Given the description of an element on the screen output the (x, y) to click on. 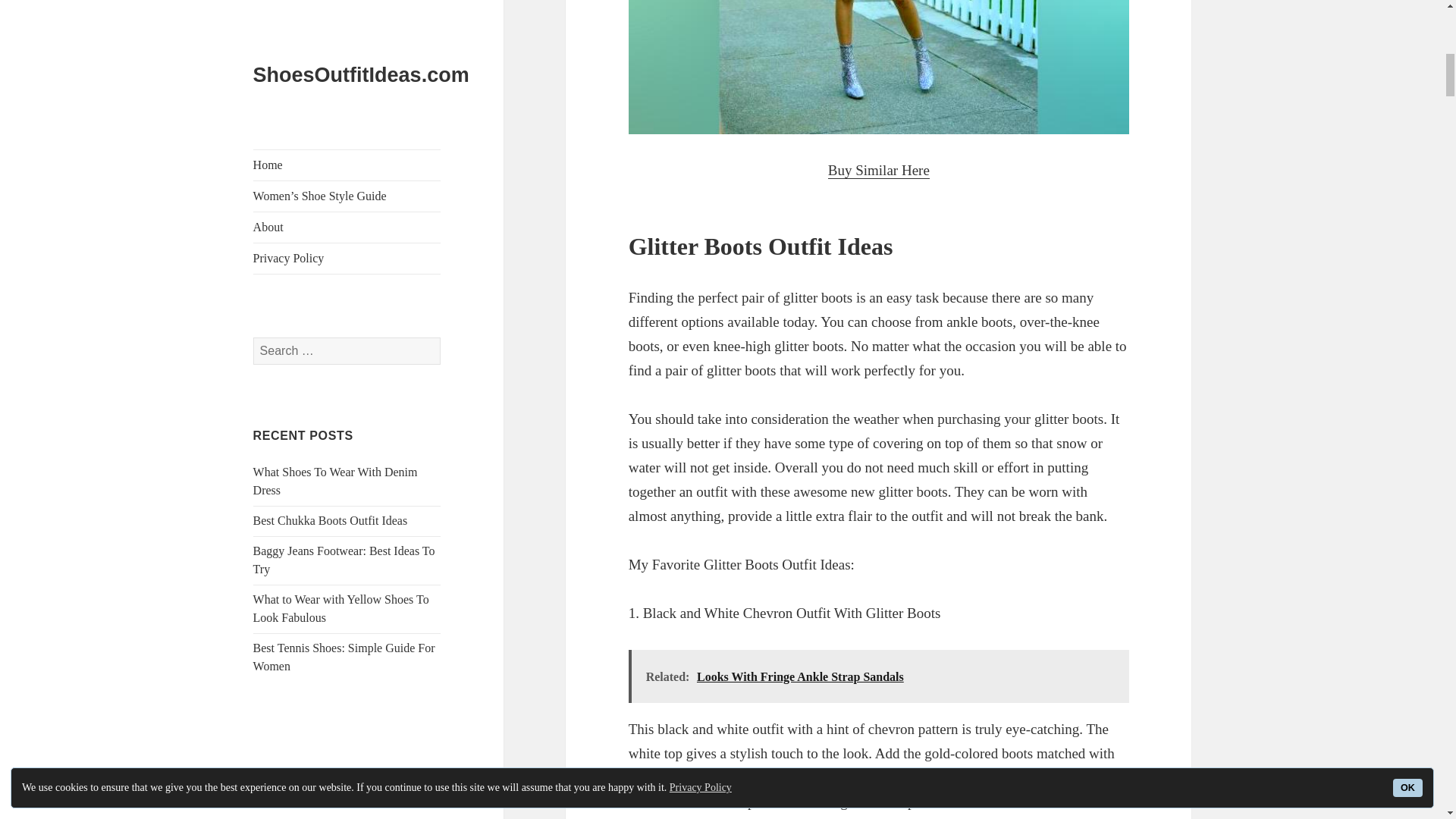
Related:  Looks With Fringe Ankle Strap Sandals (878, 676)
Buy Similar Here (879, 170)
Glitter Boots Outfit Ideas: Best Guide To Try 2023 (878, 67)
